Given the description of an element on the screen output the (x, y) to click on. 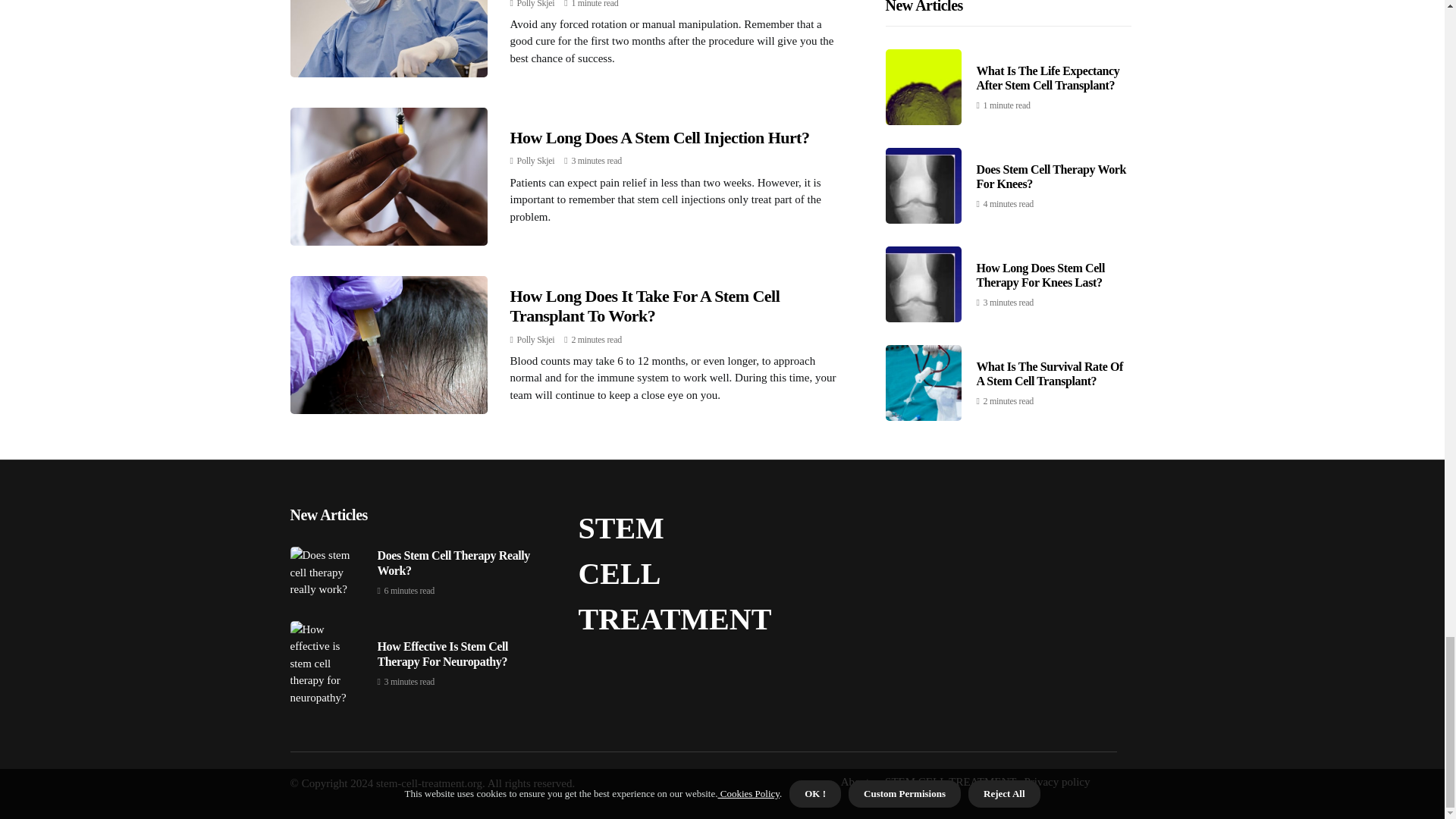
How Long Does A Stem Cell Injection Hurt? (659, 137)
Polly Skjei (535, 339)
Polly Skjei (535, 160)
Polly Skjei (535, 4)
Posts by Polly Skjei (535, 160)
Posts by Polly Skjei (535, 339)
How Long Does It Take For A Stem Cell Transplant To Work? (643, 305)
Posts by Polly Skjei (535, 4)
